Given the description of an element on the screen output the (x, y) to click on. 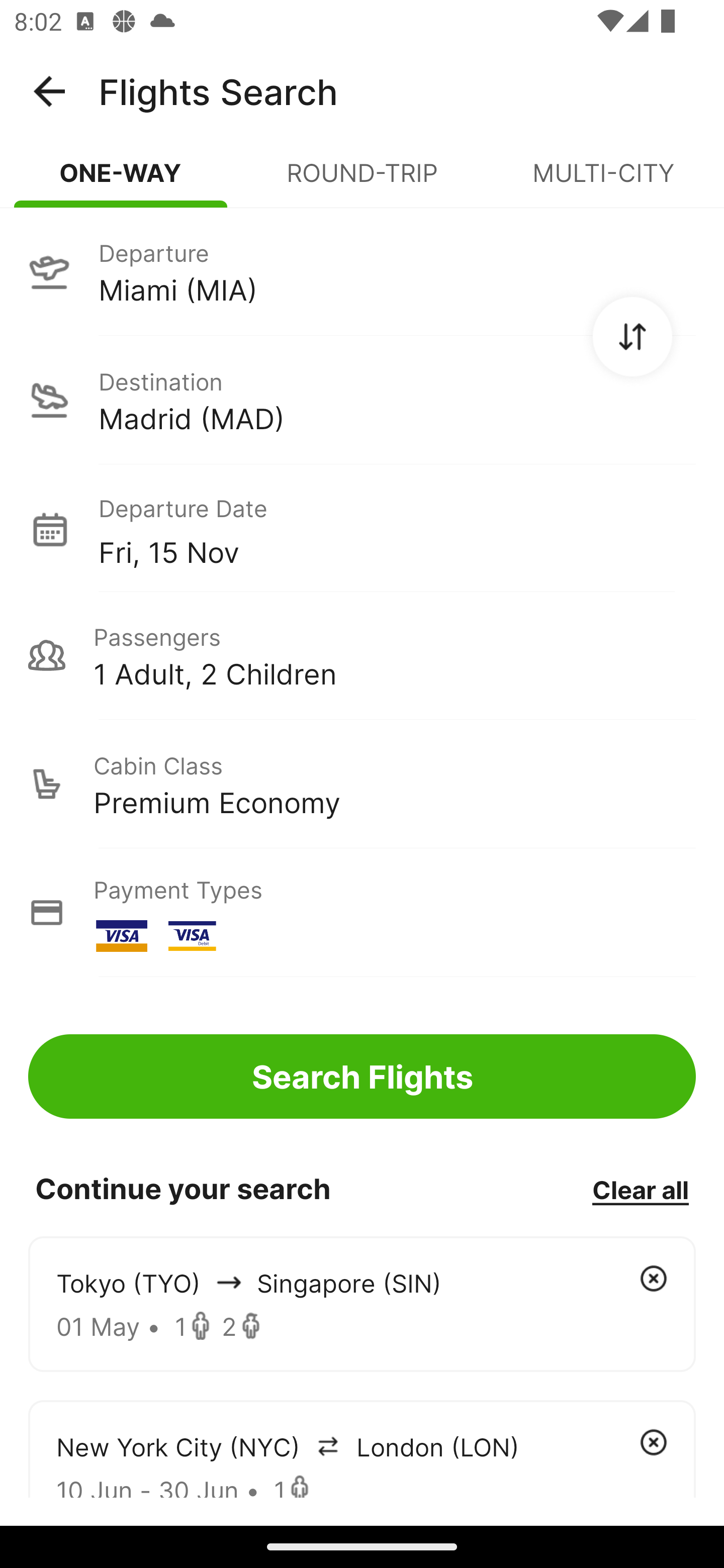
ONE-WAY (120, 180)
ROUND-TRIP (361, 180)
MULTI-CITY (603, 180)
Departure Miami (MIA) (362, 270)
Destination Madrid (MAD) (362, 400)
Departure Date Fri, 15 Nov (396, 528)
Passengers 1 Adult, 2 Children (362, 655)
Cabin Class Premium Economy (362, 783)
Payment Types (362, 912)
Search Flights (361, 1075)
Clear all (640, 1189)
